Given the description of an element on the screen output the (x, y) to click on. 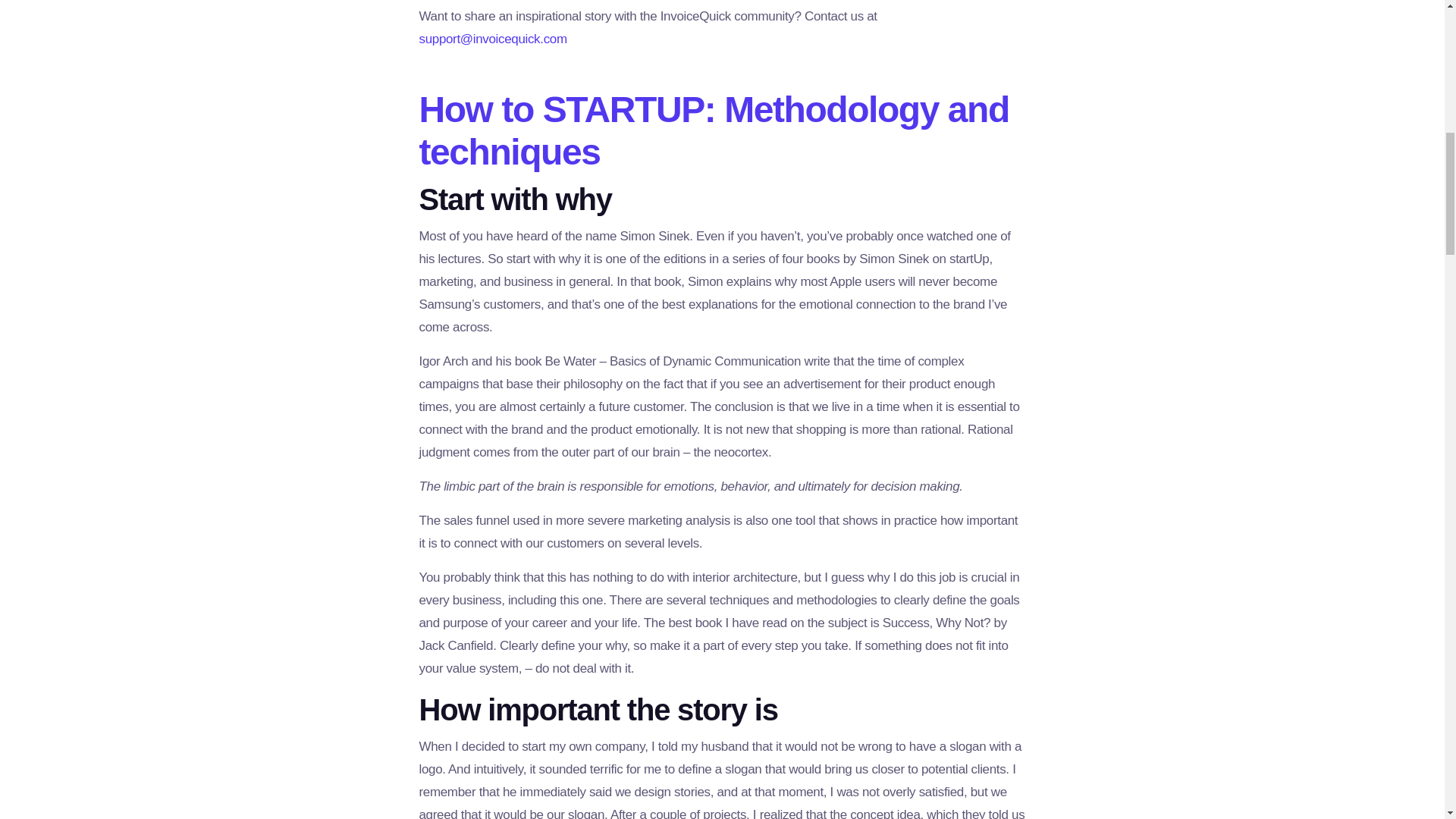
How to STARTUP: Methodology and techniques (714, 130)
